Given the description of an element on the screen output the (x, y) to click on. 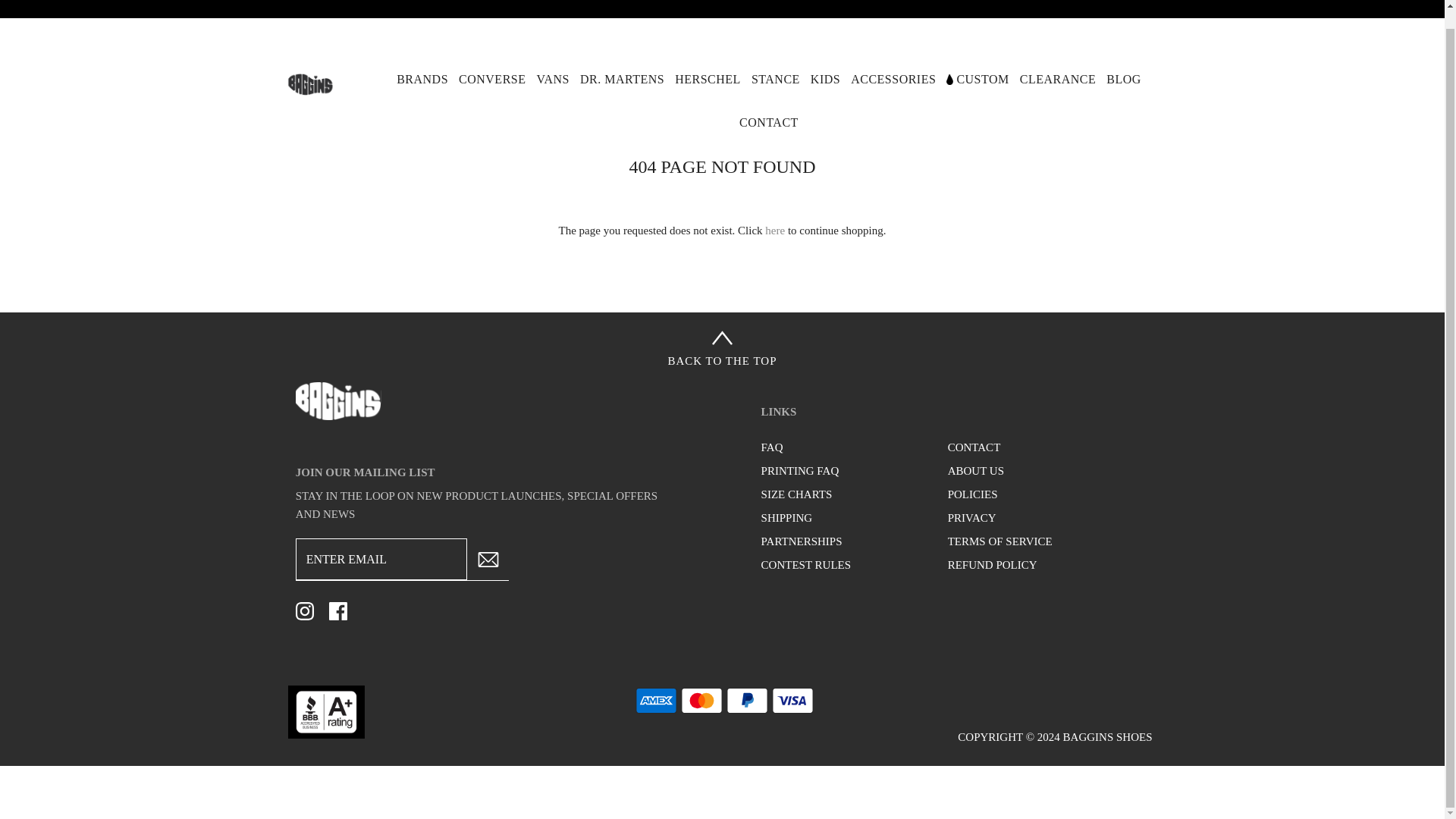
FACEBOOK ICON (338, 610)
PayPal (747, 700)
INSTAGRAM ICON (304, 610)
Visa (792, 700)
American Express (655, 700)
Mastercard (701, 700)
